Given the description of an element on the screen output the (x, y) to click on. 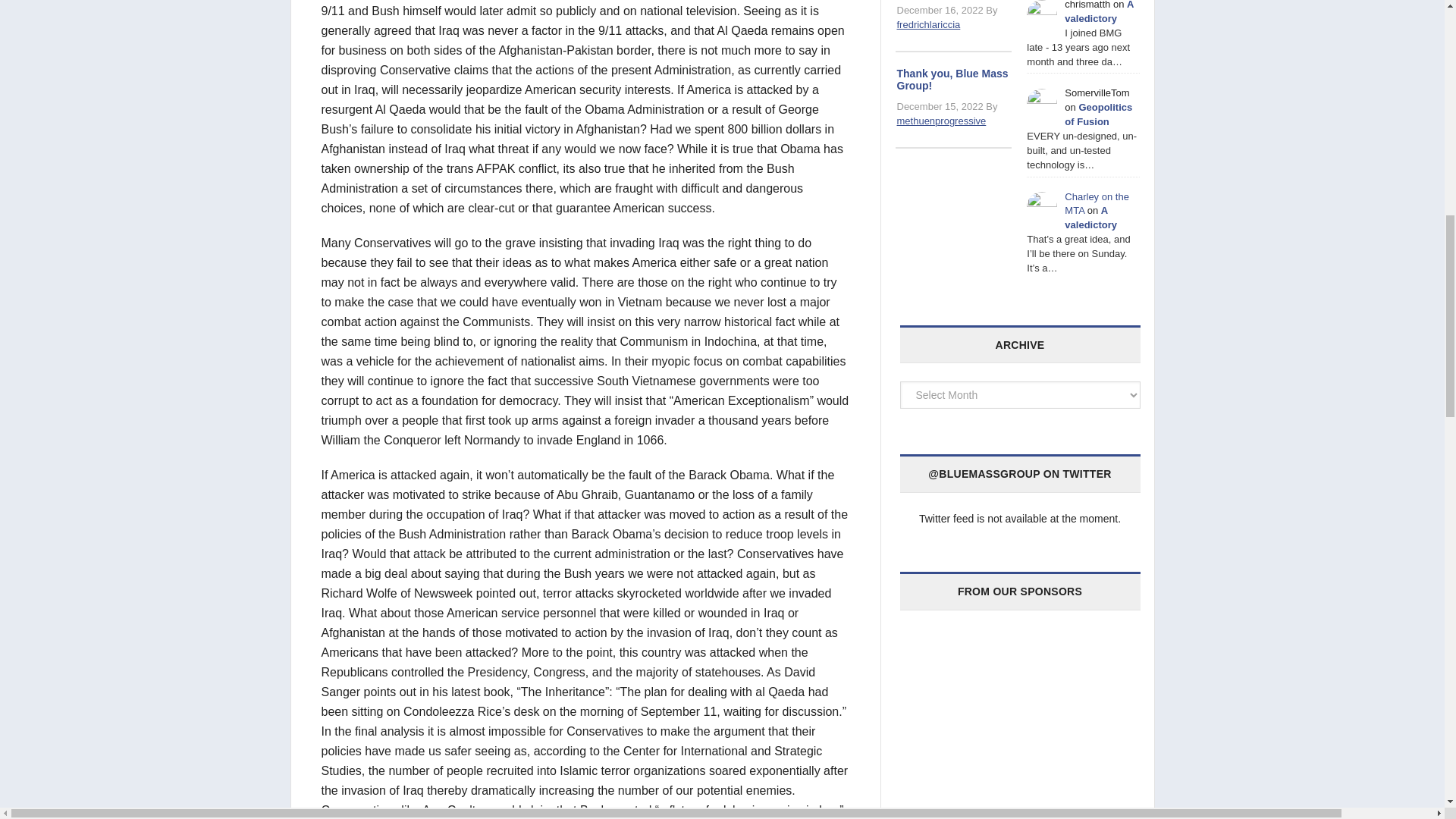
Thank you, Blue Mass Group! (951, 78)
methuenprogressive (940, 120)
fredrichlariccia (927, 24)
